Given the description of an element on the screen output the (x, y) to click on. 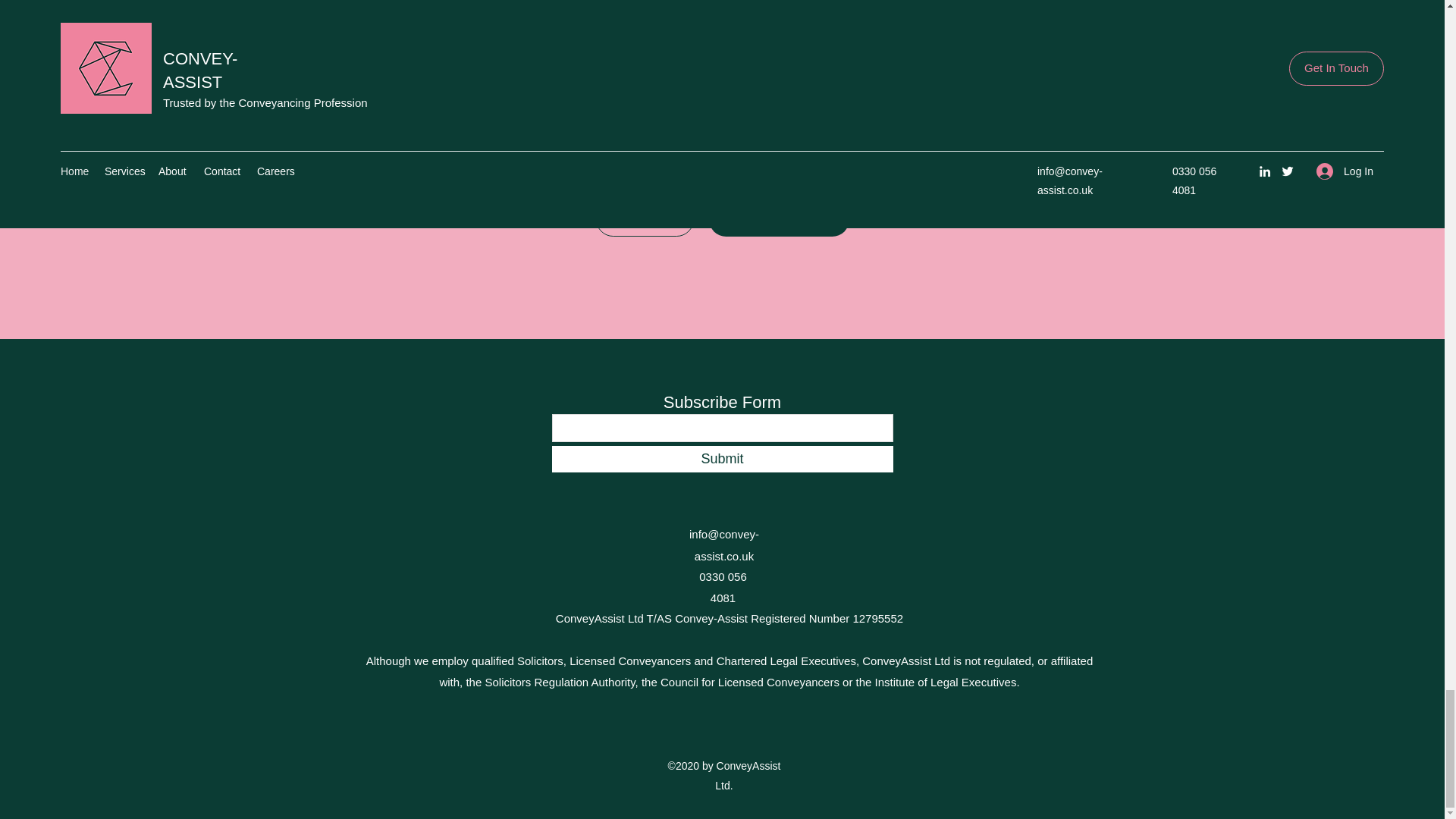
12795552 (876, 617)
Submit (722, 458)
Terms and Conditions (777, 219)
Privacy Policy (644, 219)
